Given the description of an element on the screen output the (x, y) to click on. 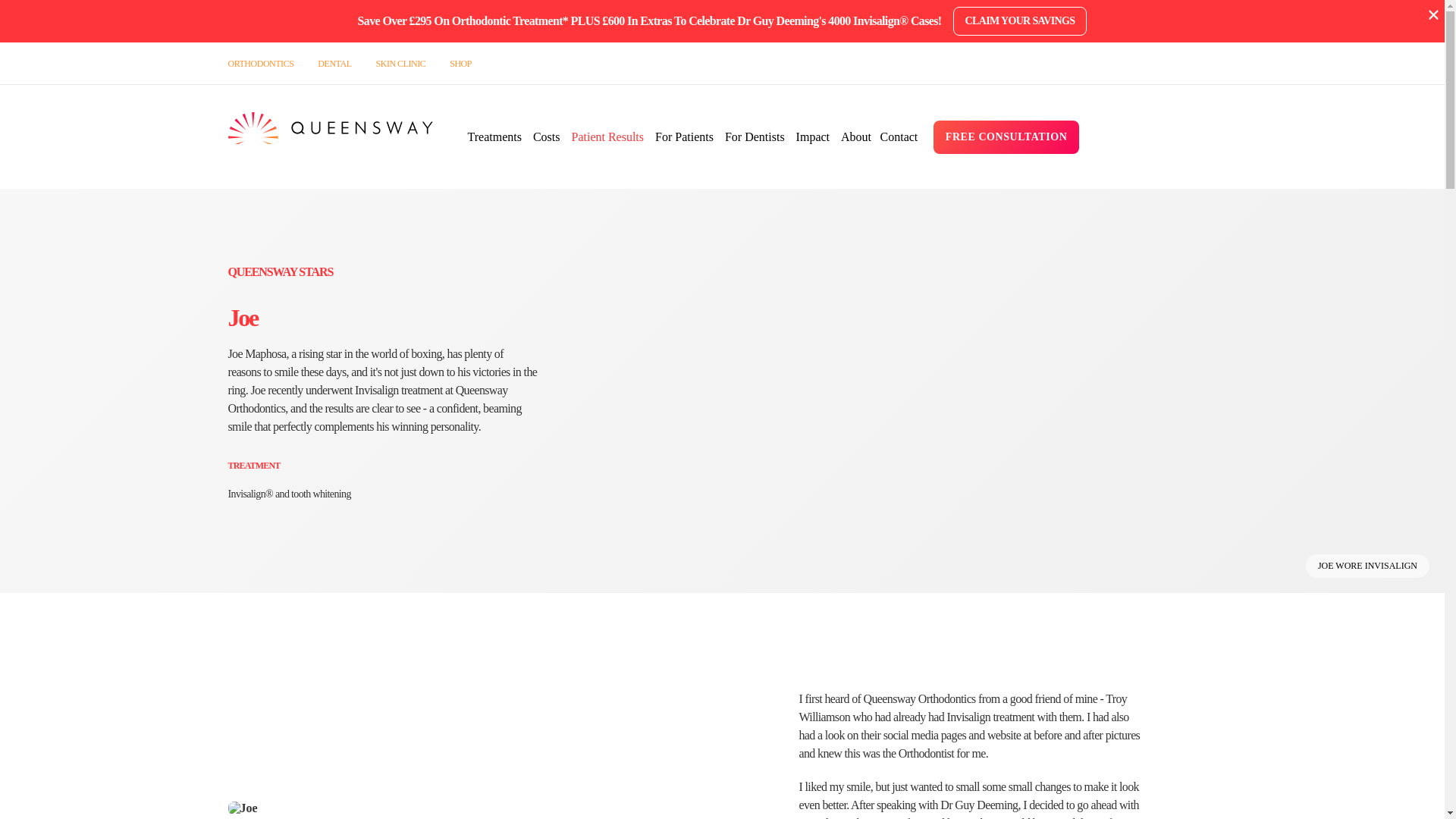
CLAIM YOUR SAVINGS (1020, 21)
Queensway Orthodontics (260, 63)
Queensway Orthodontics (329, 136)
Queensway Dental (333, 63)
SKIN CLINIC (400, 63)
Patient Results (606, 136)
Queensway Skin Clinic (400, 63)
Claim Your Savings (1020, 21)
Impact (812, 136)
For Dentists (754, 136)
Queensway Shop (460, 63)
DENTAL (333, 63)
Costs (546, 136)
For Patients (684, 136)
ORTHODONTICS (260, 63)
